Given the description of an element on the screen output the (x, y) to click on. 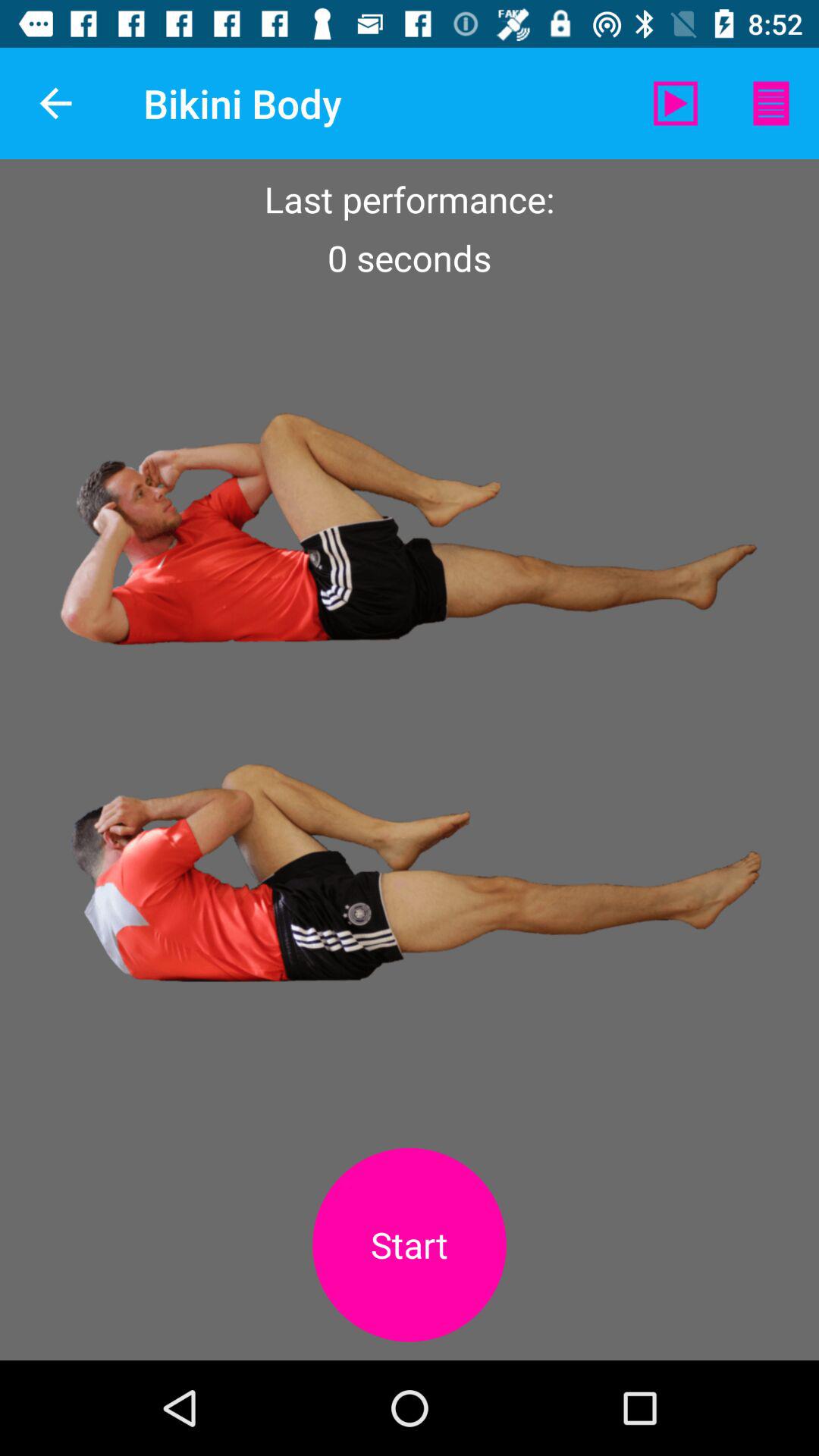
choose the app next to bikini body item (675, 103)
